Given the description of an element on the screen output the (x, y) to click on. 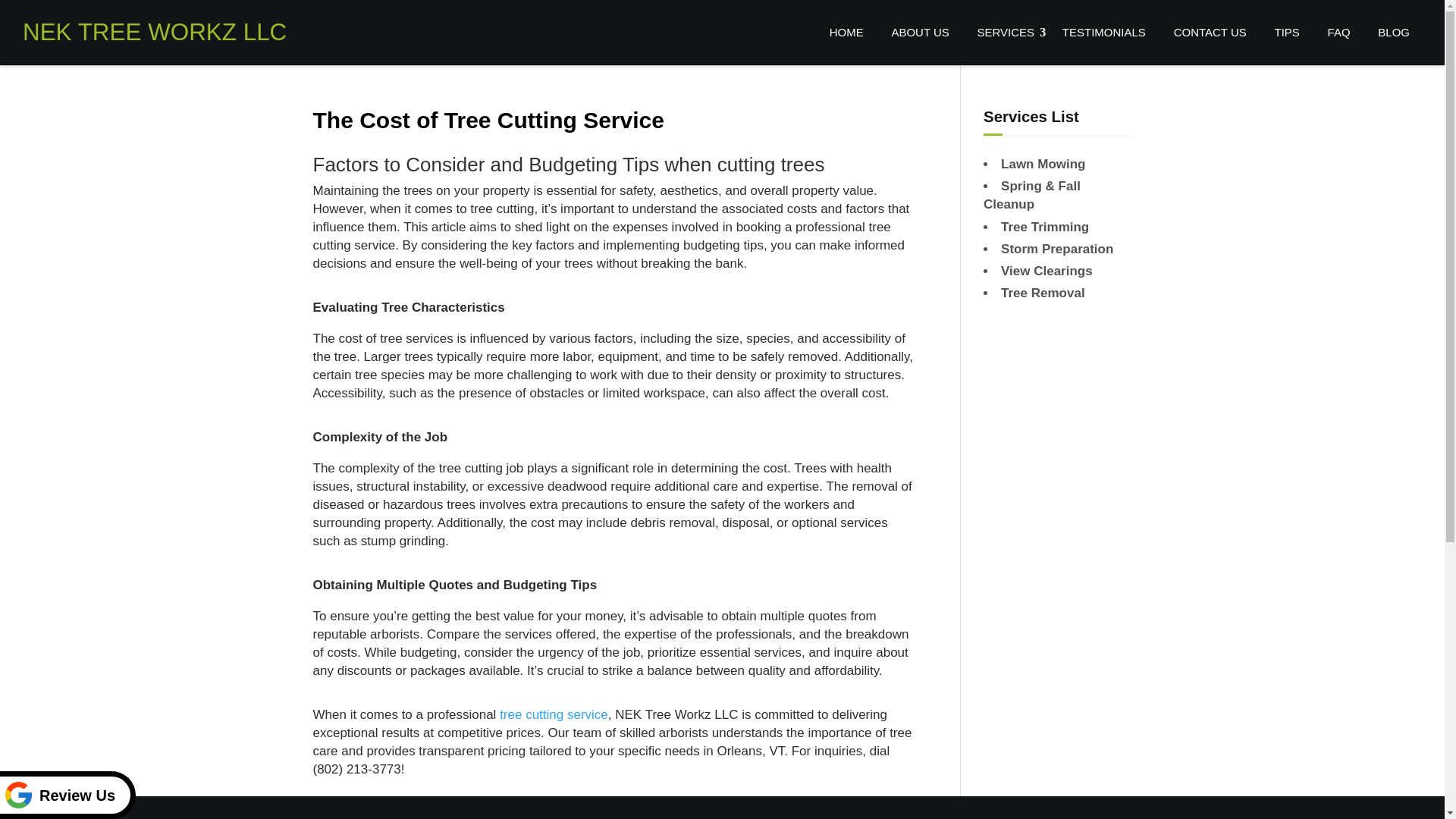
Review Us (67, 795)
TIPS (1286, 32)
More About NEK Tree Workz LLC's tree cutting service (553, 714)
FAQ (1339, 32)
BLOG (1393, 32)
SERVICES (1005, 32)
CONTACT US (1210, 32)
TESTIMONIALS (1103, 32)
NEK TREE WORKZ LLC (154, 32)
HOME (846, 32)
